Given the description of an element on the screen output the (x, y) to click on. 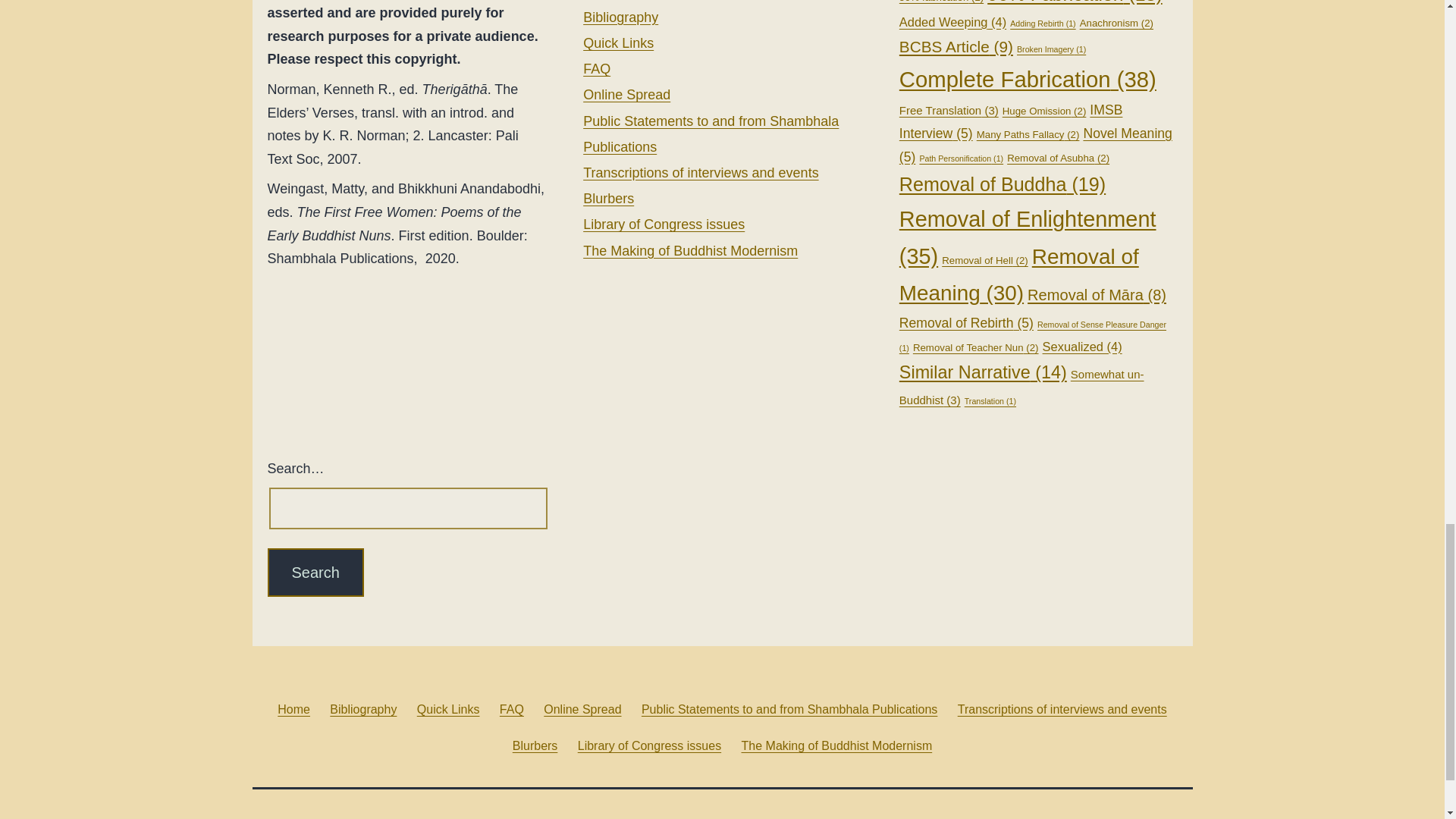
Quick Links (618, 43)
Search (314, 572)
Online Spread (626, 94)
Public Statements to and from Shambhala Publications (710, 133)
Transcriptions of interviews and events (700, 172)
Library of Congress issues (663, 224)
Bibliography (620, 17)
Blurbers (608, 198)
FAQ (596, 68)
Search (314, 572)
